Given the description of an element on the screen output the (x, y) to click on. 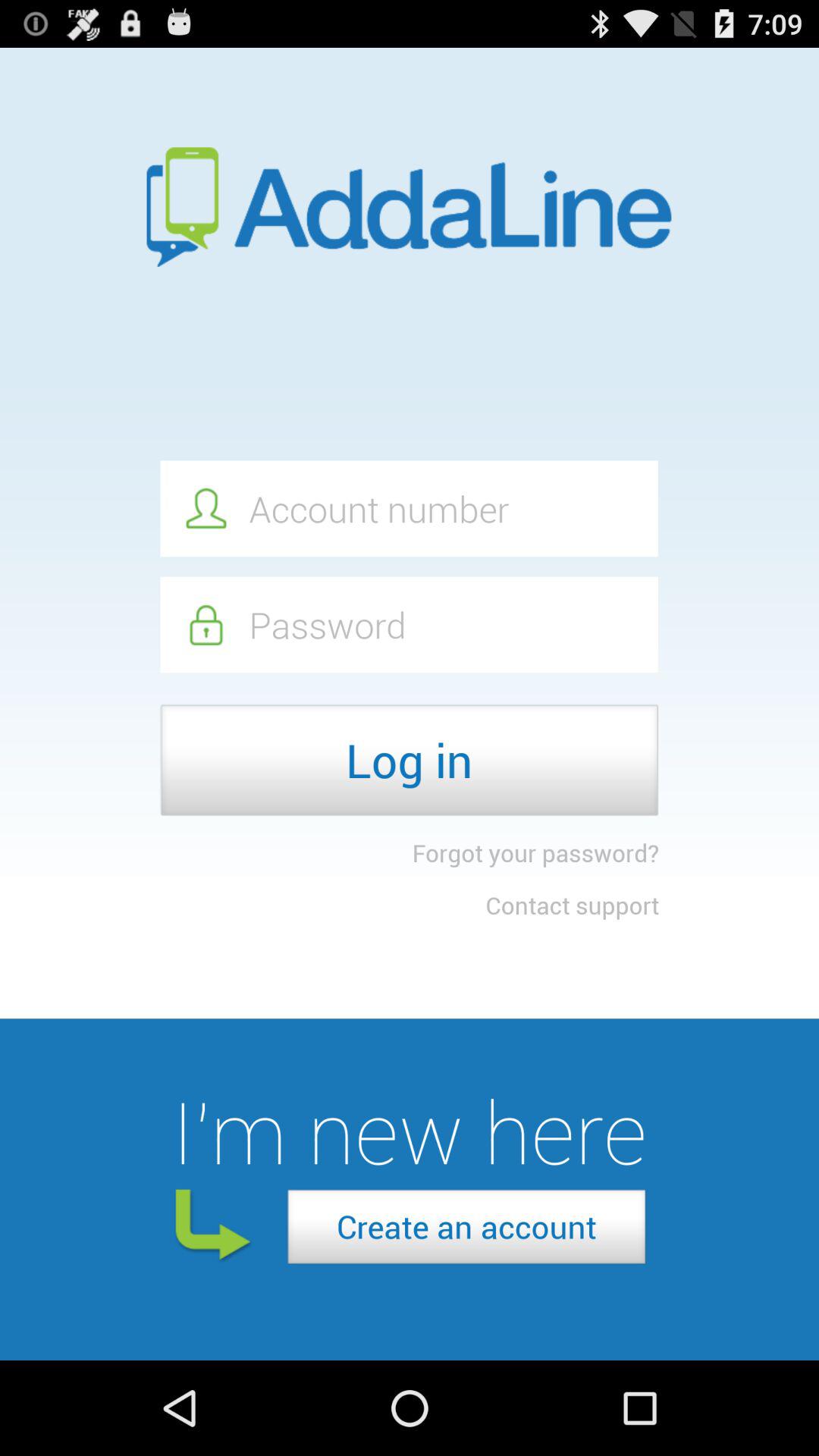
turn off item above contact support (535, 852)
